Given the description of an element on the screen output the (x, y) to click on. 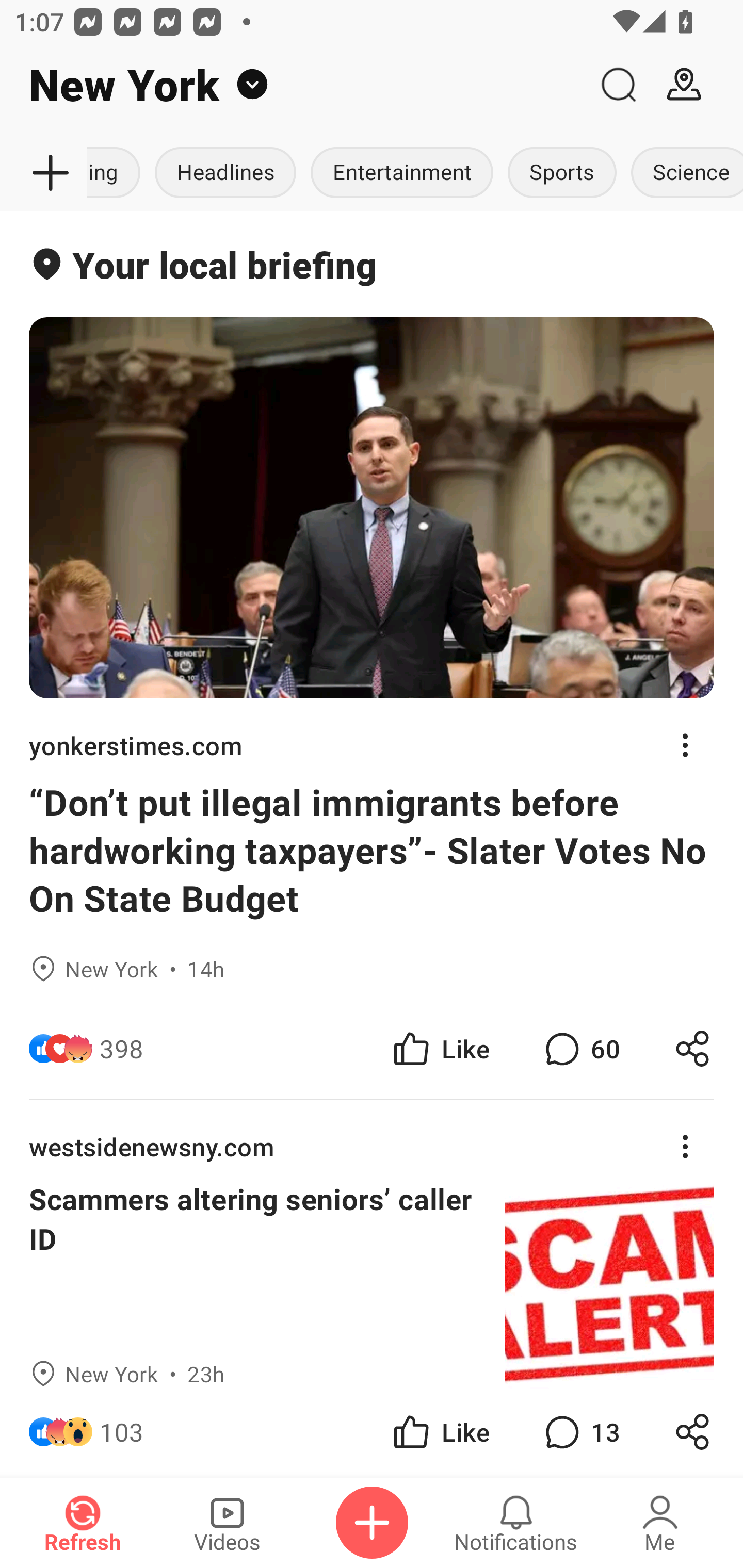
New York (292, 84)
Trending (116, 172)
Headlines (225, 172)
Entertainment (401, 172)
Sports (562, 172)
Science (683, 172)
398 (121, 1048)
Like (439, 1048)
60 (579, 1048)
103 (121, 1432)
Like (439, 1432)
13 (579, 1432)
Videos (227, 1522)
Notifications (516, 1522)
Me (659, 1522)
